Given the description of an element on the screen output the (x, y) to click on. 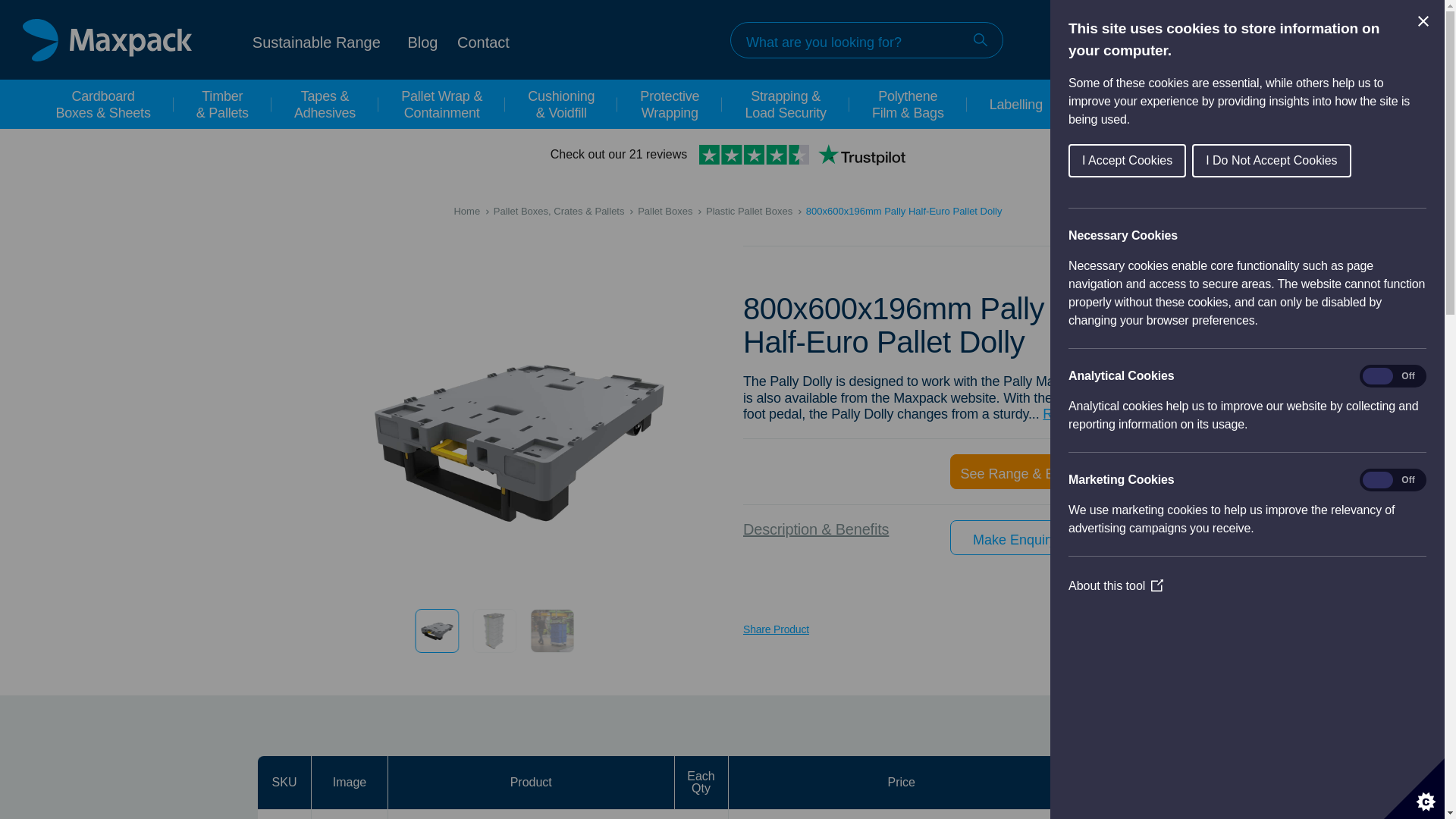
My Account (1225, 39)
Search (980, 39)
Go to Description (1075, 413)
Go to the Blog (421, 41)
I Accept Cookies (1233, 160)
Cart View (1337, 39)
Contact (482, 41)
I Do Not Accept Cookies (1345, 160)
Read More (1075, 413)
Blog (421, 41)
Go to products (1014, 471)
Contact Us (482, 41)
